Given the description of an element on the screen output the (x, y) to click on. 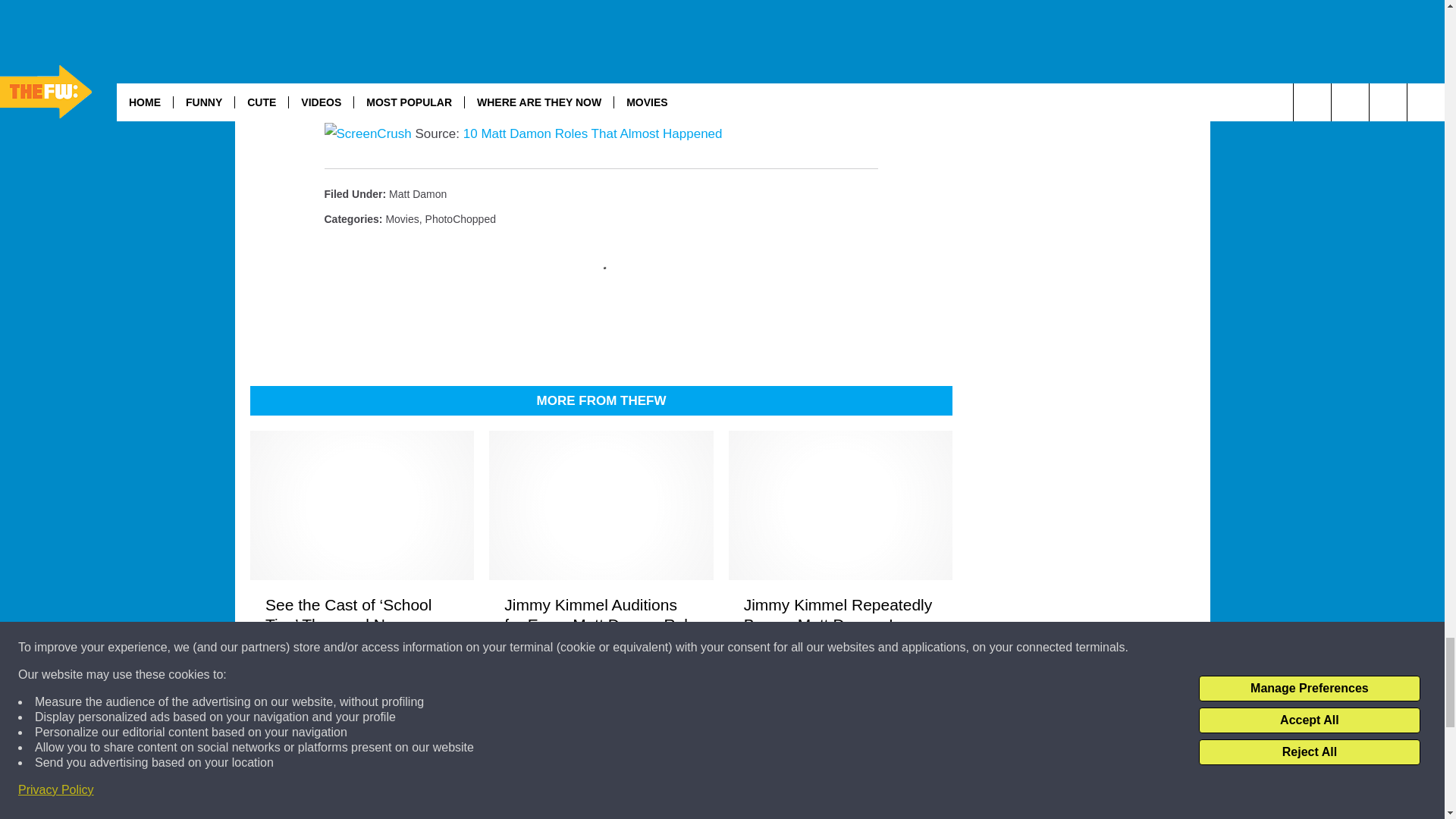
10 Matt Damon Roles That Almost Happened (592, 133)
Matt Damon (417, 193)
Movies (402, 218)
PhotoChopped (460, 218)
Jimmy Kimmel Auditions for Every Matt Damon Role (600, 614)
